Given the description of an element on the screen output the (x, y) to click on. 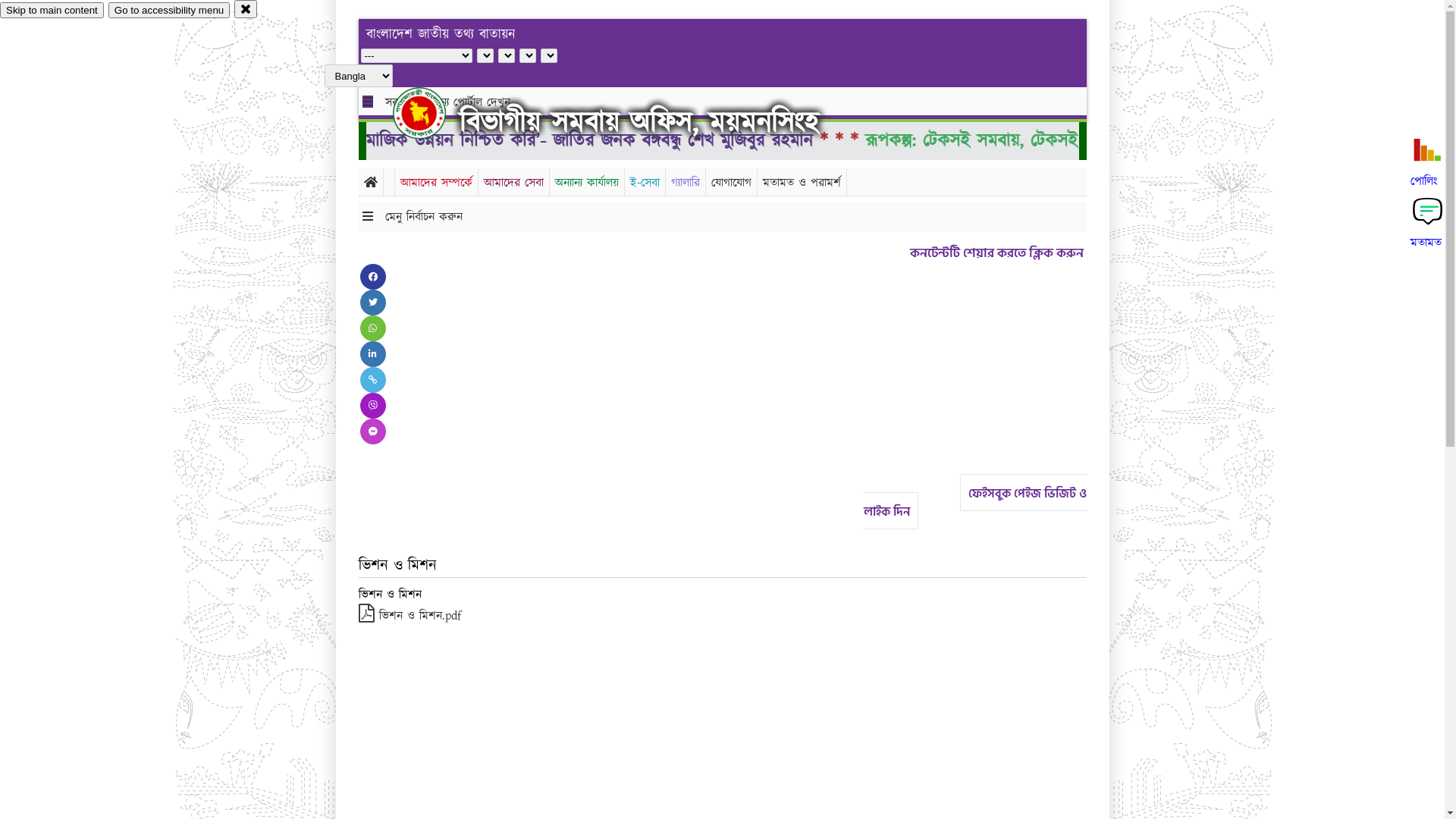
Go to accessibility menu Element type: text (168, 10)
Skip to main content Element type: text (51, 10)
close Element type: hover (245, 9)

                
             Element type: hover (431, 112)
